Given the description of an element on the screen output the (x, y) to click on. 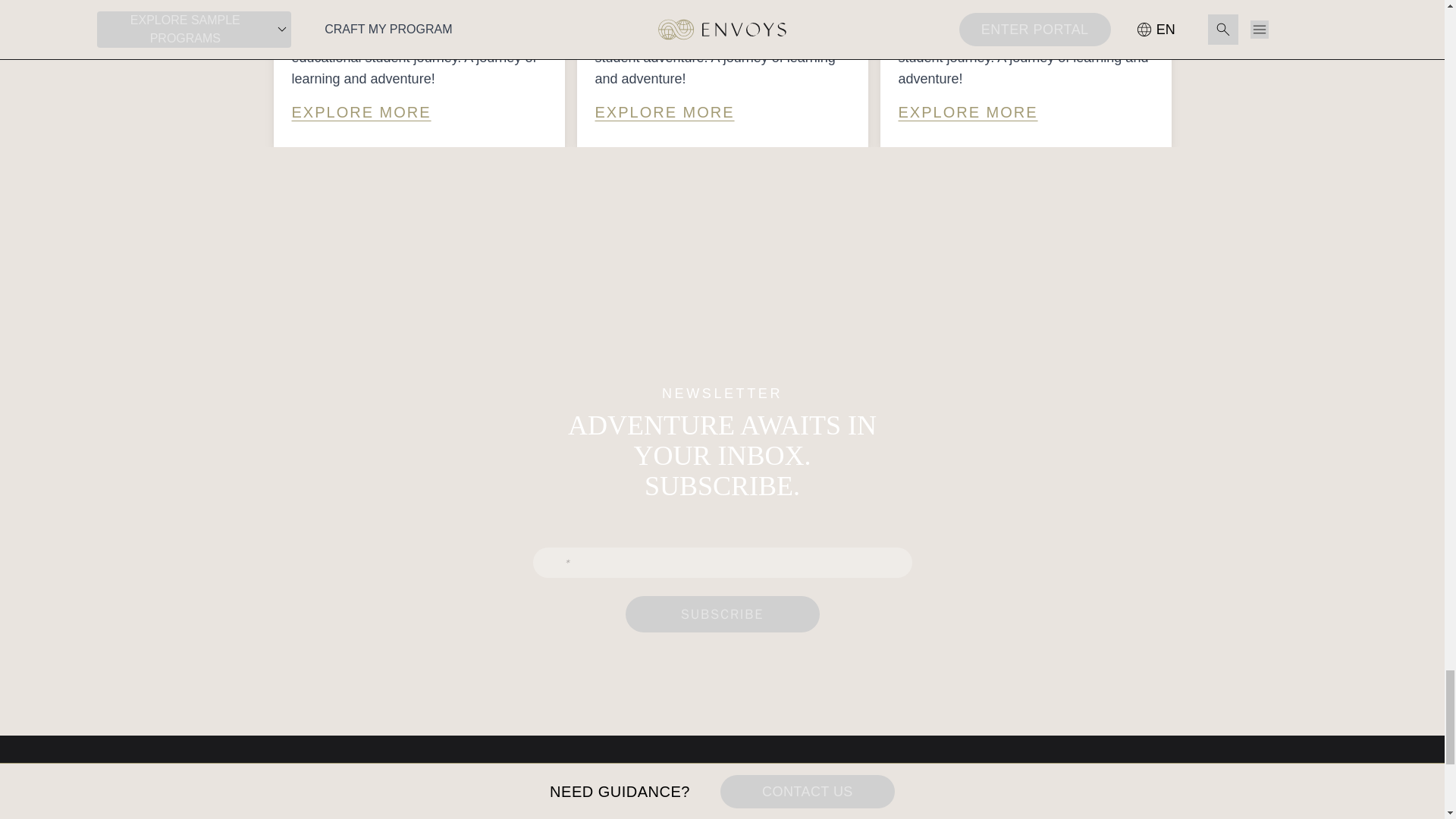
Subscribe (721, 614)
